Given the description of an element on the screen output the (x, y) to click on. 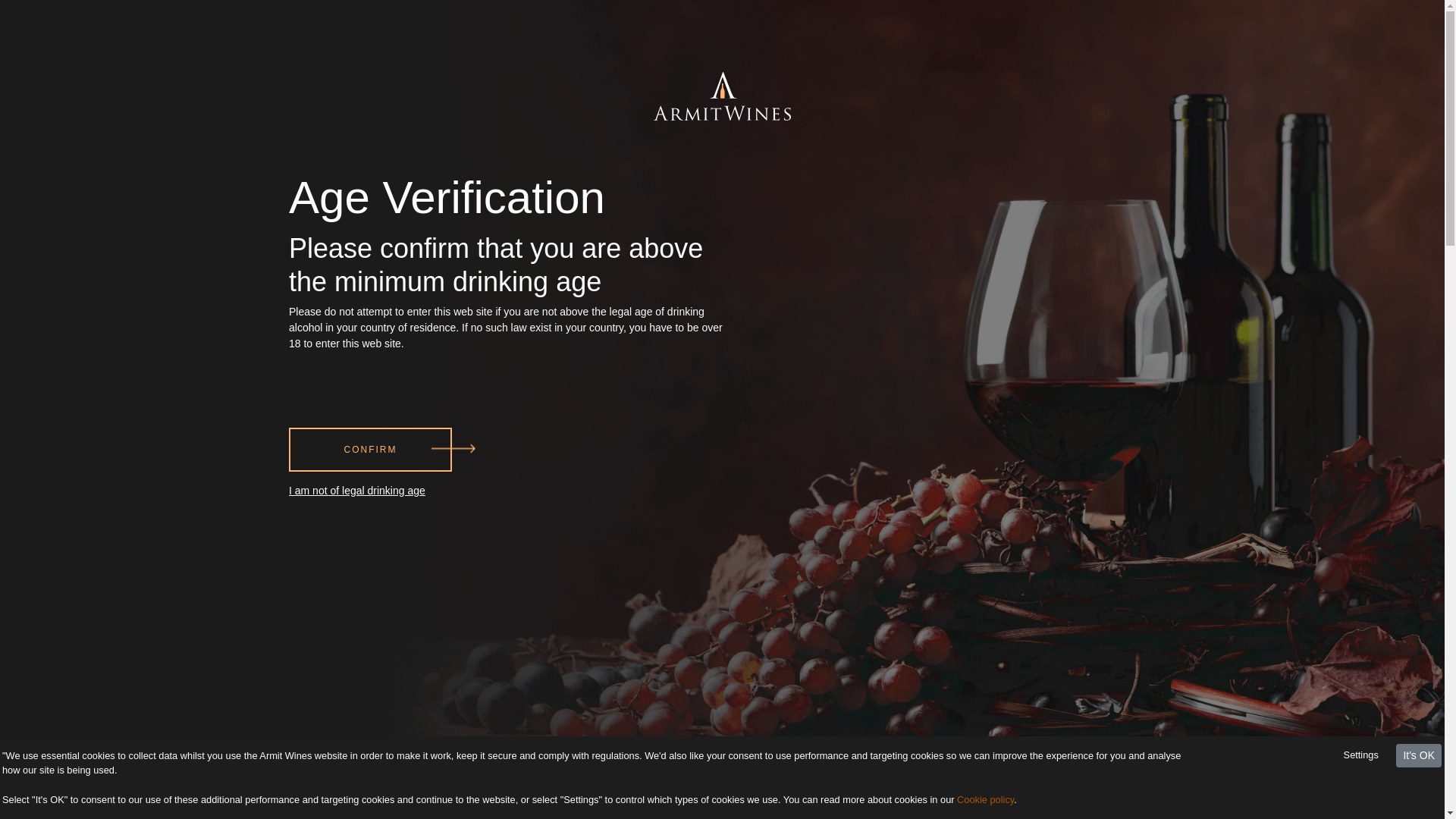
1 (684, 498)
LOG IN (1213, 78)
About Us (520, 145)
Home (721, 70)
Basket (1173, 77)
Log in to your account (1213, 78)
WINE LIST (610, 145)
ABOUT US (520, 145)
Wine List (610, 145)
Armit Wines (721, 71)
